Given the description of an element on the screen output the (x, y) to click on. 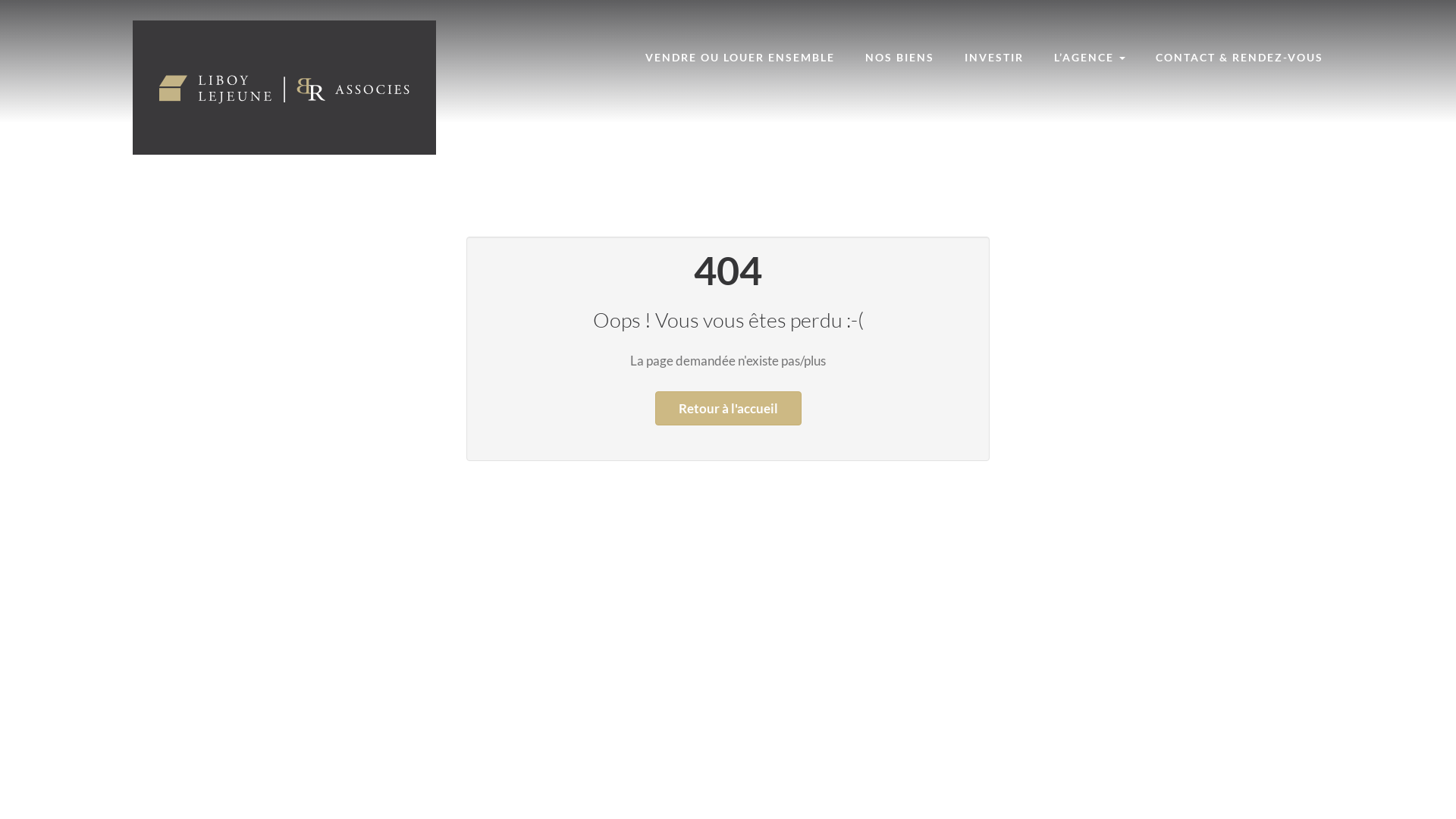
CONTACT & RENDEZ-VOUS Element type: text (1239, 56)
INVESTIR Element type: text (993, 56)
VENDRE OU LOUER ENSEMBLE Element type: text (740, 56)
NOS BIENS Element type: text (899, 56)
